Given the description of an element on the screen output the (x, y) to click on. 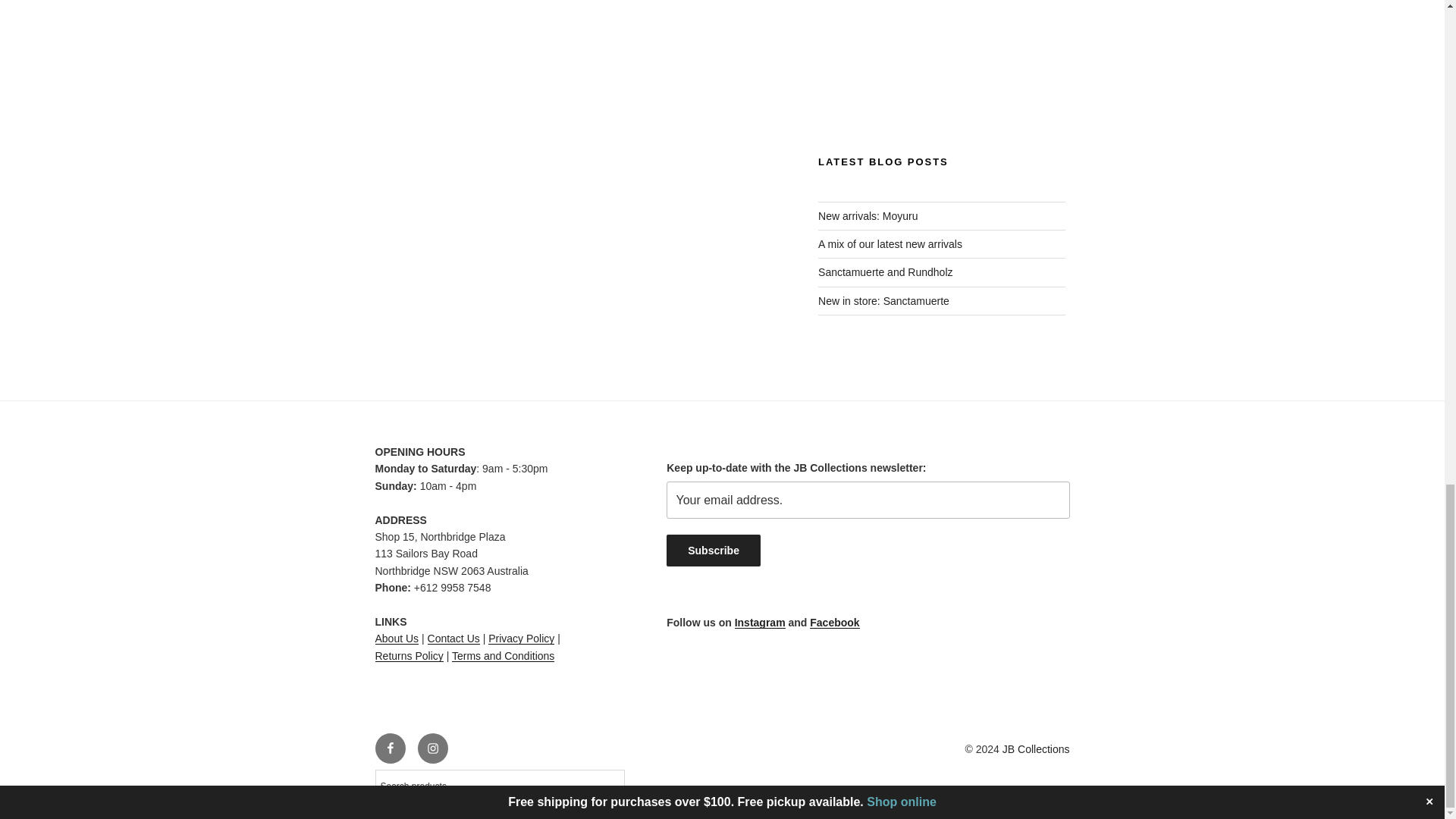
Subscribe (713, 550)
Sanctamuerte and Rundholz (885, 272)
New in store: Sanctamuerte (883, 300)
New arrivals: Moyuru (867, 215)
A mix of our latest new arrivals (890, 244)
About Us (396, 638)
